Given the description of an element on the screen output the (x, y) to click on. 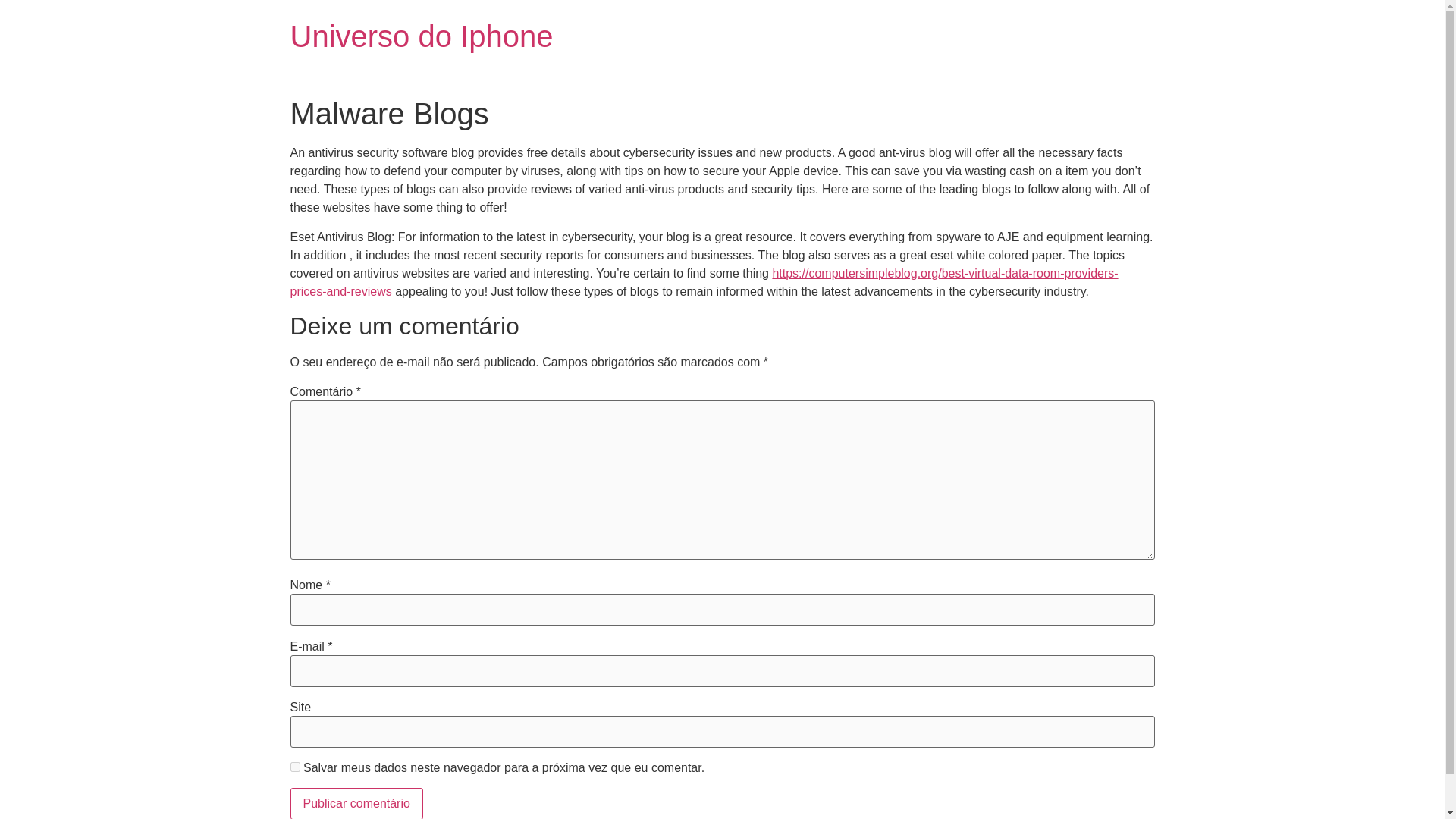
Universo do Iphone (421, 36)
Inicial (421, 36)
yes (294, 767)
